Given the description of an element on the screen output the (x, y) to click on. 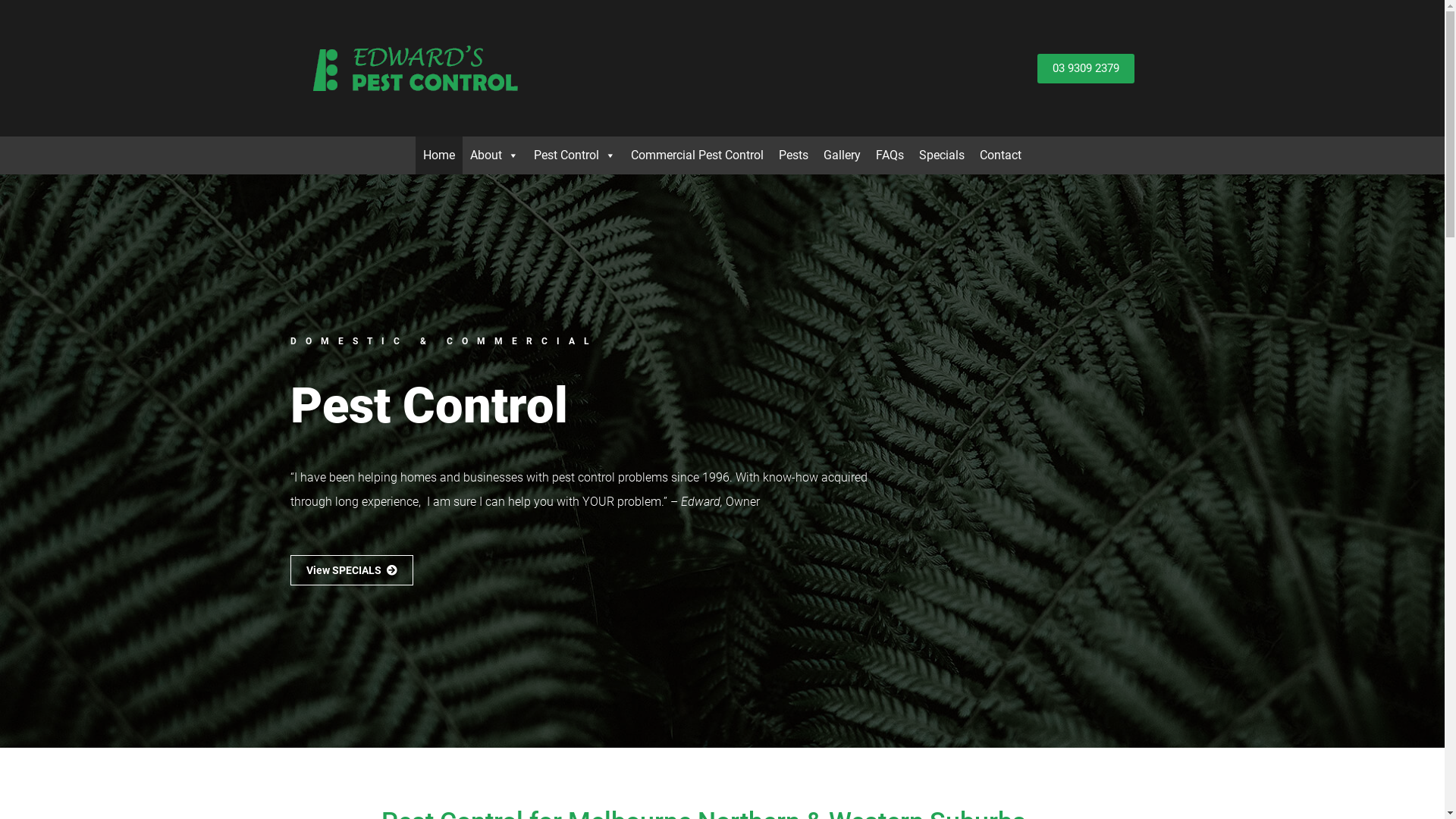
Specials Element type: text (941, 155)
About Element type: text (494, 155)
Commercial Pest Control Element type: text (697, 155)
Home Element type: text (438, 155)
Pests Element type: text (793, 155)
Pest Control Element type: text (574, 155)
03 9309 2379 Element type: text (1085, 67)
FAQs Element type: text (889, 155)
Gallery Element type: text (841, 155)
Contact Element type: text (1000, 155)
View SPECIALS Element type: text (350, 570)
